Given the description of an element on the screen output the (x, y) to click on. 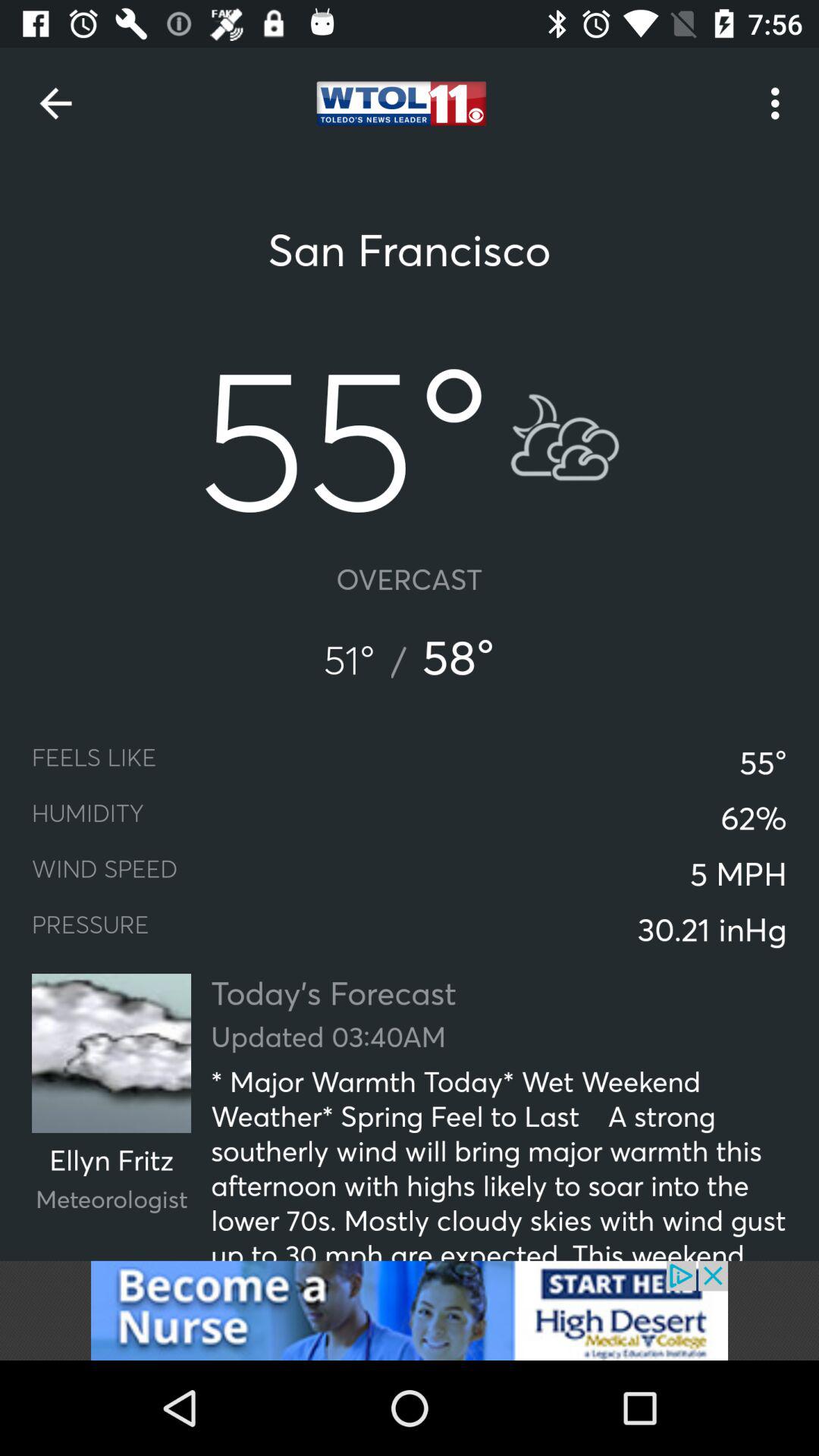
open advertisement (409, 1310)
